Given the description of an element on the screen output the (x, y) to click on. 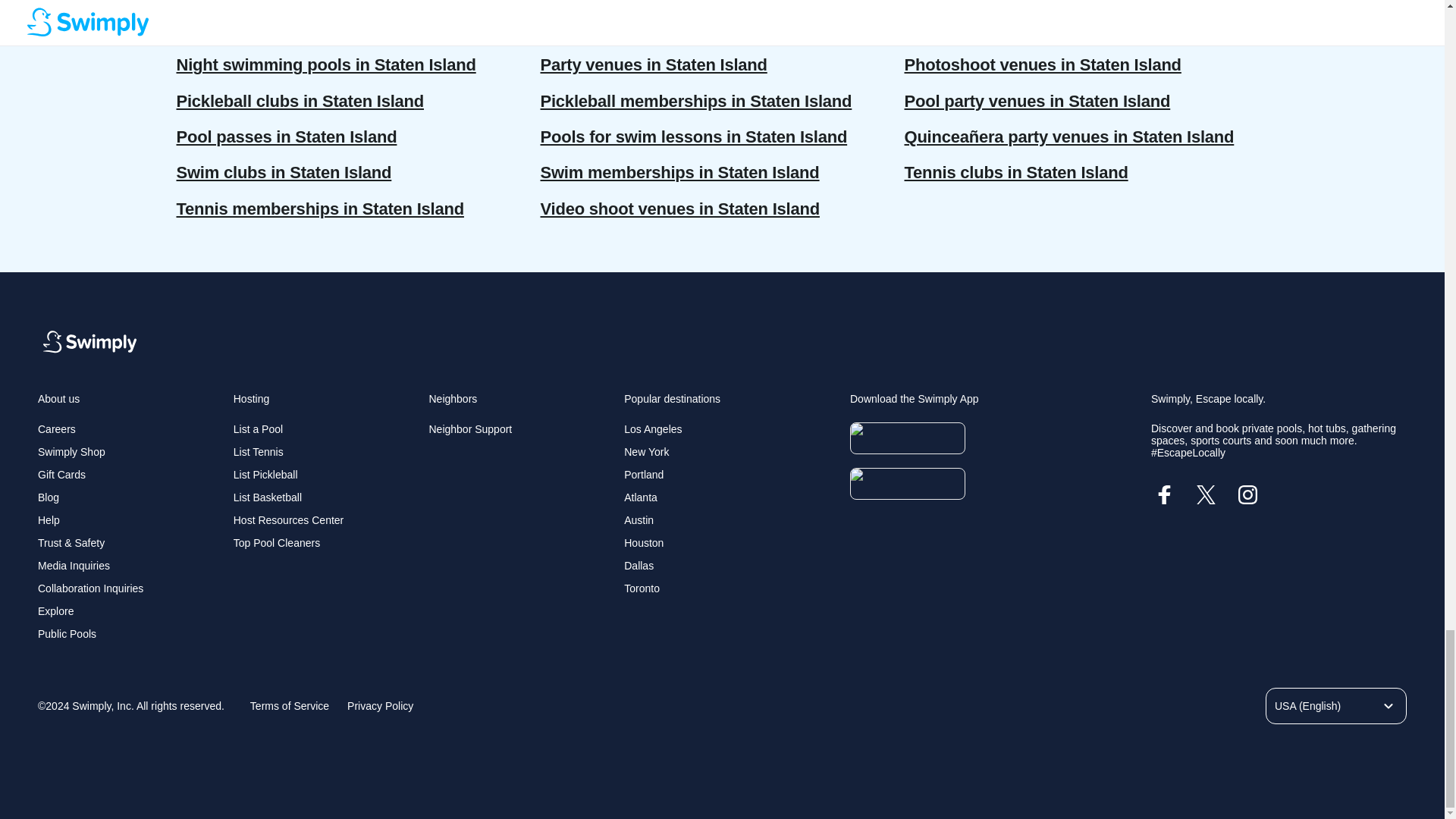
List Basketball (266, 497)
Top Pool Cleaners (276, 542)
New York (646, 451)
List a Pool (257, 428)
Help (48, 520)
Media Inquiries (73, 565)
Public Pools (66, 633)
Swimply Shop (70, 451)
Los Angeles (652, 428)
Collaboration Inquiries (89, 588)
Blog (48, 497)
List Tennis (257, 451)
Portland (643, 474)
Neighbor Support (470, 428)
List Pickleball (265, 474)
